Given the description of an element on the screen output the (x, y) to click on. 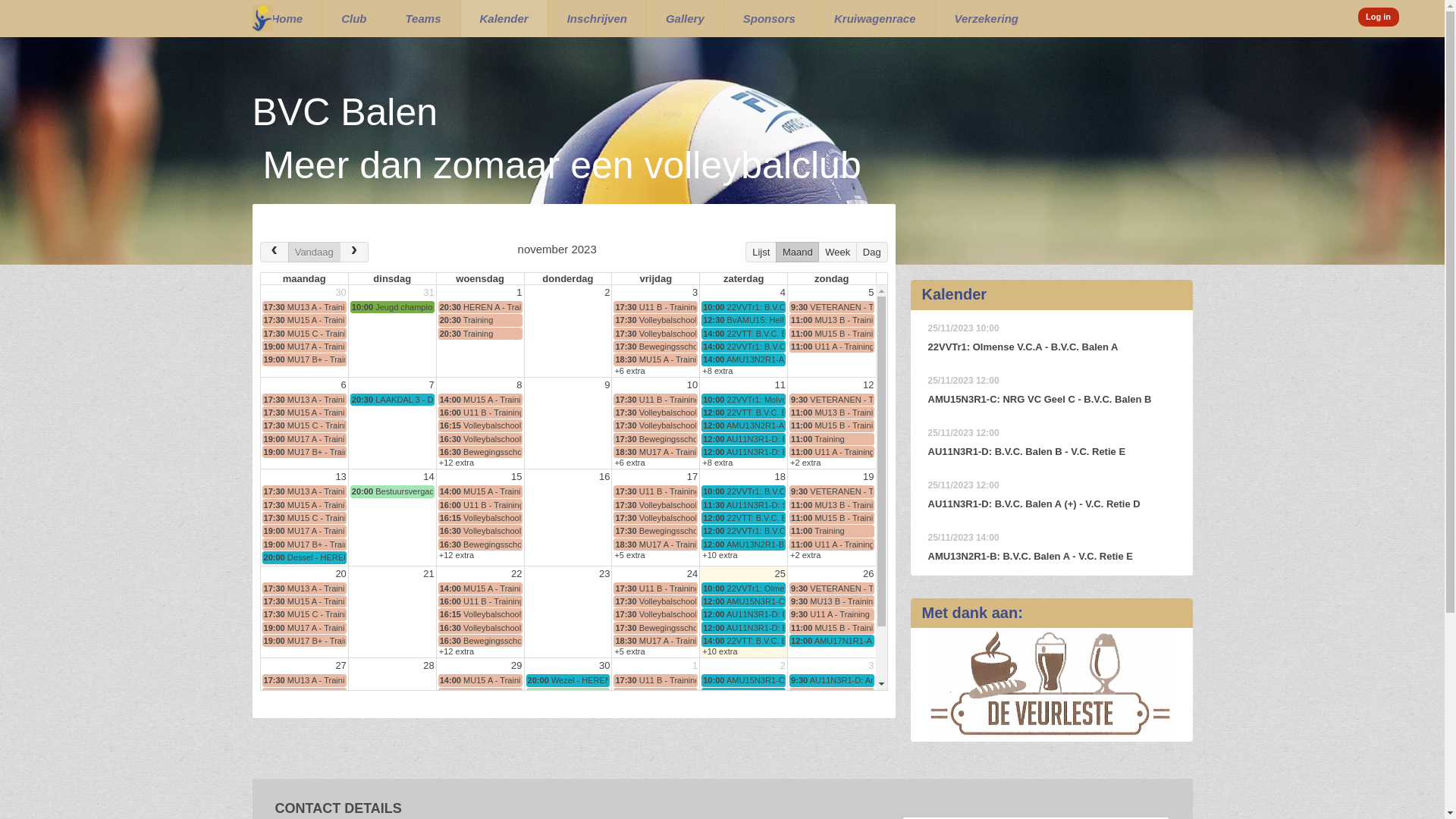
+6 extra Element type: text (629, 462)
20:00 Dessel - HEREN RECREA Element type: text (304, 557)
Kalender Element type: text (503, 18)
17:30 U11 B - Training Element type: text (655, 399)
9:30 VETERANEN - Training Element type: text (831, 491)
18:30 MU17 A - Training Element type: text (655, 451)
17:30 U11 B - Training Element type: text (655, 588)
9:30 MU13 B - Training Element type: text (831, 601)
20:30 LAAKDAL 3 - DAMES RECREA B Element type: text (392, 399)
Inschrijven Element type: text (597, 18)
14:00 MU15 A - Training Element type: text (480, 491)
11:00 U11 A - Training Element type: text (831, 733)
9:30 VETERANEN - Training Element type: text (831, 307)
18:30 MU17 A - Training Element type: text (655, 640)
Gallery Element type: text (684, 18)
11:00 MU13 B - Training Element type: text (831, 319)
11:00 MU13 B - Training Element type: text (831, 412)
11:00 U11 A - Training Element type: text (831, 544)
19:00 MU17 A - Training Element type: text (304, 346)
16:00 U11 B - Training Element type: text (480, 693)
11:00 MU15 B - Training Element type: text (831, 333)
+12 extra Element type: text (456, 462)
17:30 U11 B - Training Element type: text (655, 307)
17:30 MU15 C - Training Element type: text (304, 706)
10:00 22VVTr1: Olmense V.C.A - B.V.C. Balen A Element type: text (743, 588)
10:00 22VVTr1: Molvoc Mol C - B.V.C. Balen A Element type: text (743, 399)
10:00 AU11N3R1-D: Olmense V.C.B - B.V.C. Balen B Element type: text (743, 693)
20:30 Training Element type: text (480, 319)
16:30 Volleybalschool 1-1 - Training Element type: text (480, 439)
11:00 MU15 B - Training Element type: text (831, 627)
25/11/2023 12:00
AU11N3R1-D: B.V.C. Balen B - V.C. Retie E Element type: text (1051, 442)
14:00 MU15 A - Training Element type: text (480, 399)
+2 extra Element type: text (805, 554)
17:30 MU15 C - Training Element type: text (304, 517)
19:00 MU17 A - Training Element type: text (304, 627)
+5 extra Element type: text (629, 650)
11:00 U11 A - Training Element type: text (831, 346)
17:30 MU13 A - Training Element type: text (304, 680)
+6 extra Element type: text (629, 370)
16:30 Volleybalschool 1-1 - Training Element type: text (480, 627)
Teams Element type: text (423, 18)
16:30 Bewegingsschool - Training Element type: text (480, 544)
11:00 U11 A - Training Element type: text (831, 451)
17:30 Bewegingsschool - Training Element type: text (655, 719)
11:00 Training Element type: text (831, 530)
12:00 AMU13N2R1-B: B.V.C. Balen A - Molvoc Mol A Element type: text (743, 544)
17:30 MU13 A - Training Element type: text (304, 307)
17:30 U11 B - Training Element type: text (655, 680)
17:30 Volleybalschool 2-2 - Training Element type: text (655, 504)
16:30 Bewegingsschool - Training Element type: text (480, 733)
17:30 Bewegingsschool - Training Element type: text (655, 530)
11:00 MU15 B - Training Element type: text (831, 706)
Lijst Element type: text (760, 251)
Verzekering Element type: text (986, 18)
+12 extra Element type: text (456, 650)
+12 extra Element type: text (456, 743)
11:00 MU15 B - Training Element type: text (831, 425)
20:30 Training Element type: text (480, 333)
16:15 Volleybalschool 2-2 - Training Element type: text (480, 614)
17:30 Bewegingsschool - Training Element type: text (655, 627)
19:00 MU17 B+ - Training Element type: text (304, 544)
20:00 vergadering activiteitenbestuur Element type: text (568, 693)
25/11/2023 14:00
AMU13N2R1-B: B.V.C. Balen A - V.C. Retie E Element type: text (1051, 547)
17:30 Volleybalschool 2-2 - Training Element type: text (655, 319)
12:00 AU11N3R1-D: B.V.C. Balen B - V.C. Retie E Element type: text (743, 627)
17:30 Bewegingsschool - Training Element type: text (655, 439)
15:00 AMU15N2R1-B: V.C. Kasterlee B - B.V.C. Balen A Element type: text (743, 746)
10:00 22VVTr1: B.V.C. Balen A - Spinley Dessel A Element type: text (743, 491)
14:30 AMU17N3R1-C: V.C. Kasterlee B - B.V.C. Balen B (+) Element type: text (743, 733)
13:30 22VTT: V.C. Retie A - B.V.C. Balen A Element type: text (743, 719)
18:30 MU17 A - Training Element type: text (655, 544)
19:00 MU17 A - Training Element type: text (304, 719)
17:30 MU15 A - Training Element type: text (304, 412)
11:30 AU11N3R1-D: Spinley Dessel C - B.V.C. Balen A (+) Element type: text (743, 504)
10:00 22VVTr1: B.V.C. Balen A - Olmense V.C.B Element type: text (743, 307)
19:00 MU17 B+ - Training Element type: text (304, 451)
17:30 Volleybalschool 1-1 - Training Element type: text (655, 614)
19:00 MU17 A - Training Element type: text (304, 439)
16:00 U11 B - Training Element type: text (480, 504)
12:00 22VVTr1: B.V.C. Balen B - Spinley Dessel B Element type: text (743, 530)
Dag Element type: text (871, 251)
17:30 MU15 A - Training Element type: text (304, 504)
+2 extra Element type: text (805, 743)
17:30 MU15 A - Training Element type: text (304, 319)
11:00 MU15 B - Training Element type: text (831, 517)
17:30 MU13 A - Training Element type: text (304, 588)
12:30 BvAMU15: Hellvoc Hemiksem-Schelle - B.V.C. Balen Element type: text (743, 319)
17:30 MU13 A - Training Element type: text (304, 491)
Week Element type: text (837, 251)
10:30 AMU13N2R1-B: V.C. Retie D - B.V.C. Balen A Element type: text (743, 706)
17:30 Volleybalschool 2-2 - Training Element type: text (655, 693)
17:30 MU15 A - Training Element type: text (304, 601)
+2 extra Element type: text (805, 462)
17:30 Volleybalschool 1-1 - Training Element type: text (655, 425)
9:30 VETERANEN - Training Element type: text (831, 399)
Vandaag Element type: text (314, 251)
18:30 MU15 A - Training Element type: text (655, 359)
17:30 MU15 C - Training Element type: text (304, 614)
+8 extra Element type: text (717, 370)
10:00 AMU15N3R1-C: V.C. Retie C - B.V.C. Balen C Element type: text (743, 680)
16:15 Volleybalschool 2-2 - Training Element type: text (480, 517)
11:00 MU13 B - Training Element type: text (831, 504)
16:15 Volleybalschool 2-2 - Training Element type: text (480, 706)
Sponsors Element type: text (769, 18)
+10 extra Element type: text (719, 554)
16:00 U11 B - Training Element type: text (480, 412)
25/11/2023 10:00
22VVTr1: Olmense V.C.A - B.V.C. Balen A Element type: text (1051, 337)
+5 extra Element type: text (629, 554)
19:00 MU17 B+ - Training Element type: text (304, 359)
9:30 VETERANEN - Training Element type: text (831, 693)
Kruiwagenrace Element type: text (875, 18)
17:30 MU15 C - Training Element type: text (304, 425)
12:00 22VTT: B.V.C. Balen A - Molvoc Mol B Element type: text (743, 517)
19:00 MU17 B+ - Training Element type: text (304, 640)
17:30 Volleybalschool 2-2 - Training Element type: text (655, 601)
12:00 AMU13N2R1-A: B.V.C. Balen B - Olvoc Olen C Element type: text (743, 425)
19:00 Sponsoring Element type: text (304, 746)
14:00 AMU13N2R1-A: B.V.C. Balen B - V.C. Kasterlee B Element type: text (743, 359)
14:00 22VTT: B.V.C. Balen A - Molvoc Mol A Element type: text (743, 333)
Log in Element type: text (1378, 16)
16:15 Volleybalschool 2-2 - Training Element type: text (480, 425)
+10 extra Element type: text (719, 650)
25/11/2023 12:00
AMU15N3R1-C: NRG VC Geel C - B.V.C. Balen B Element type: text (1051, 389)
+6 extra Element type: text (629, 743)
20:30 HEREN A - Training Element type: text (480, 307)
17:30 MU15 A - Training Element type: text (304, 693)
11:00 Training Element type: text (831, 439)
16:30 Bewegingsschool - Training Element type: text (480, 640)
20:00 Wezel - HEREN RECREA Element type: text (568, 680)
17:30 Volleybalschool 1-1 - Training Element type: text (655, 706)
+12 extra Element type: text (456, 554)
17:30 MU15 C - Training Element type: text (304, 333)
9:30 VETERANEN - Training Element type: text (831, 588)
20:00 Bestuursvergadering Element type: text (392, 491)
16:30 Bewegingsschool - Training Element type: text (480, 451)
12:00 AMU17N1R1-A: Molvoc Mol A (+) - B.V.C. Balen A Element type: text (831, 640)
12:00 AU11N3R1-D: B.V.C. Balen A (+) - V.C. Retie D Element type: text (743, 614)
17:30 U11 B - Training Element type: text (655, 491)
17:30 MU13 A - Training Element type: text (304, 399)
17:30 Bewegingsschool - Training Element type: text (655, 346)
14:00 MU15 A - Training Element type: text (480, 680)
19:00 MU17 A - Training Element type: text (304, 530)
17:30 Volleybalschool 1-1 - Training Element type: text (655, 333)
14:00 22VTT: B.V.C. Balen A - V.C. Retie B Element type: text (743, 640)
19:00 MU17 B+ - Training Element type: text (304, 733)
Home Element type: text (287, 18)
11:00 Training Element type: text (831, 719)
9:30 U11 A - Training Element type: text (831, 614)
9:30 AU11N3R1-D: Arvoc F - B.V.C. Balen A (+) Element type: text (831, 680)
17:30 Volleybalschool 2-2 - Training Element type: text (655, 412)
18:30 MU17 A - Training Element type: text (655, 733)
Club Element type: text (353, 18)
10:00 Jeugd champions league MU17 Element type: text (392, 307)
17:30 Volleybalschool 1-1 - Training Element type: text (655, 517)
Maand Element type: text (797, 251)
+8 extra Element type: text (717, 462)
16:00 U11 B - Training Element type: text (480, 601)
14:00 22VVTr1: B.V.C. Balen B - Molvoc Mol C Element type: text (743, 346)
16:30 Volleybalschool 1-1 - Training Element type: text (480, 530)
16:30 Volleybalschool 1-1 - Training Element type: text (480, 719)
12:00 22VTT: B.V.C. Balen A - V.C. Retie A Element type: text (743, 412)
12:00 AMU15N3R1-C: NRG VC Geel C - B.V.C. Balen B Element type: text (743, 601)
14:00 MU15 A - Training Element type: text (480, 588)
